Given the description of an element on the screen output the (x, y) to click on. 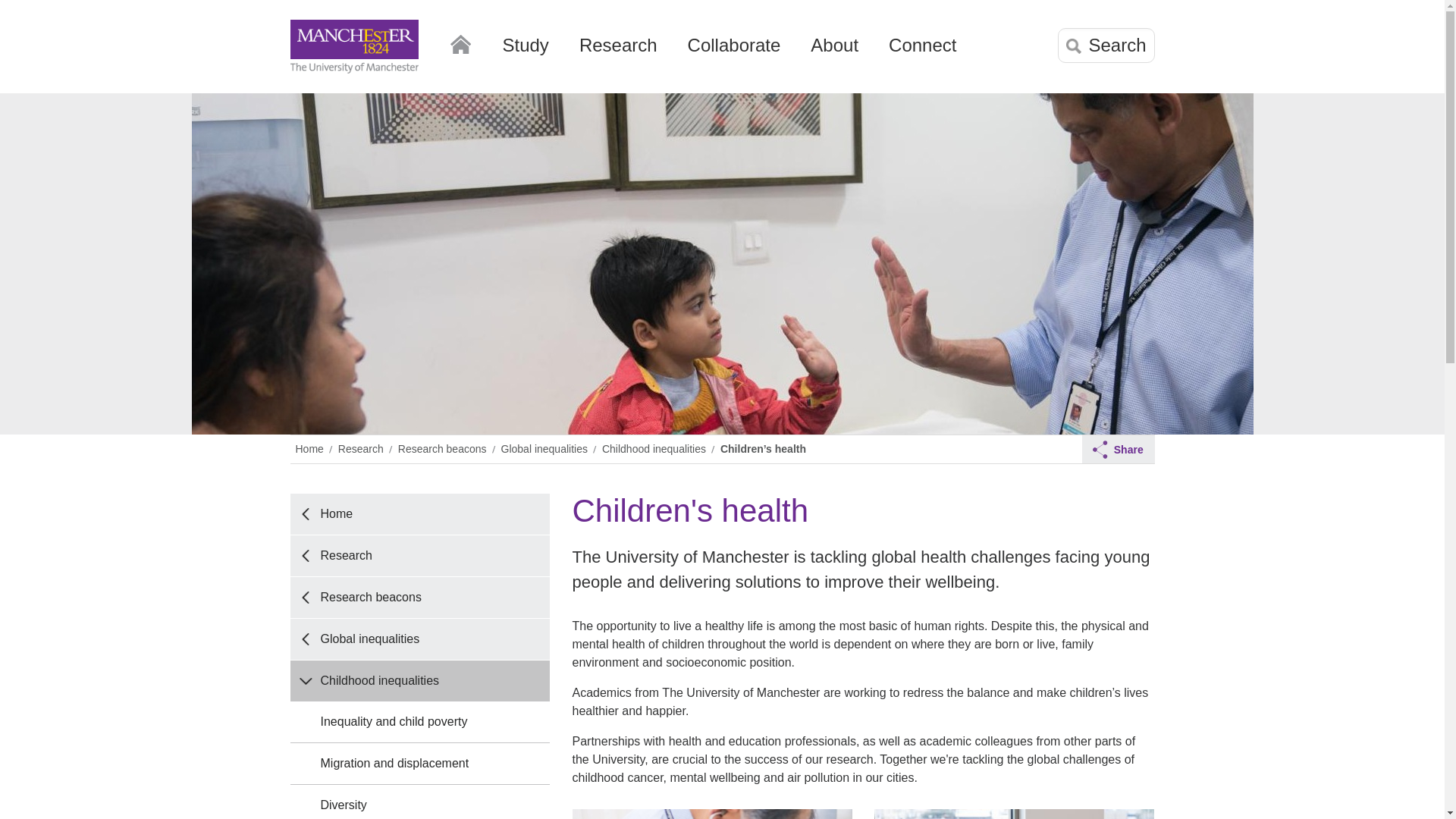
Research at the University (618, 50)
Study (524, 50)
Home (459, 41)
